Given the description of an element on the screen output the (x, y) to click on. 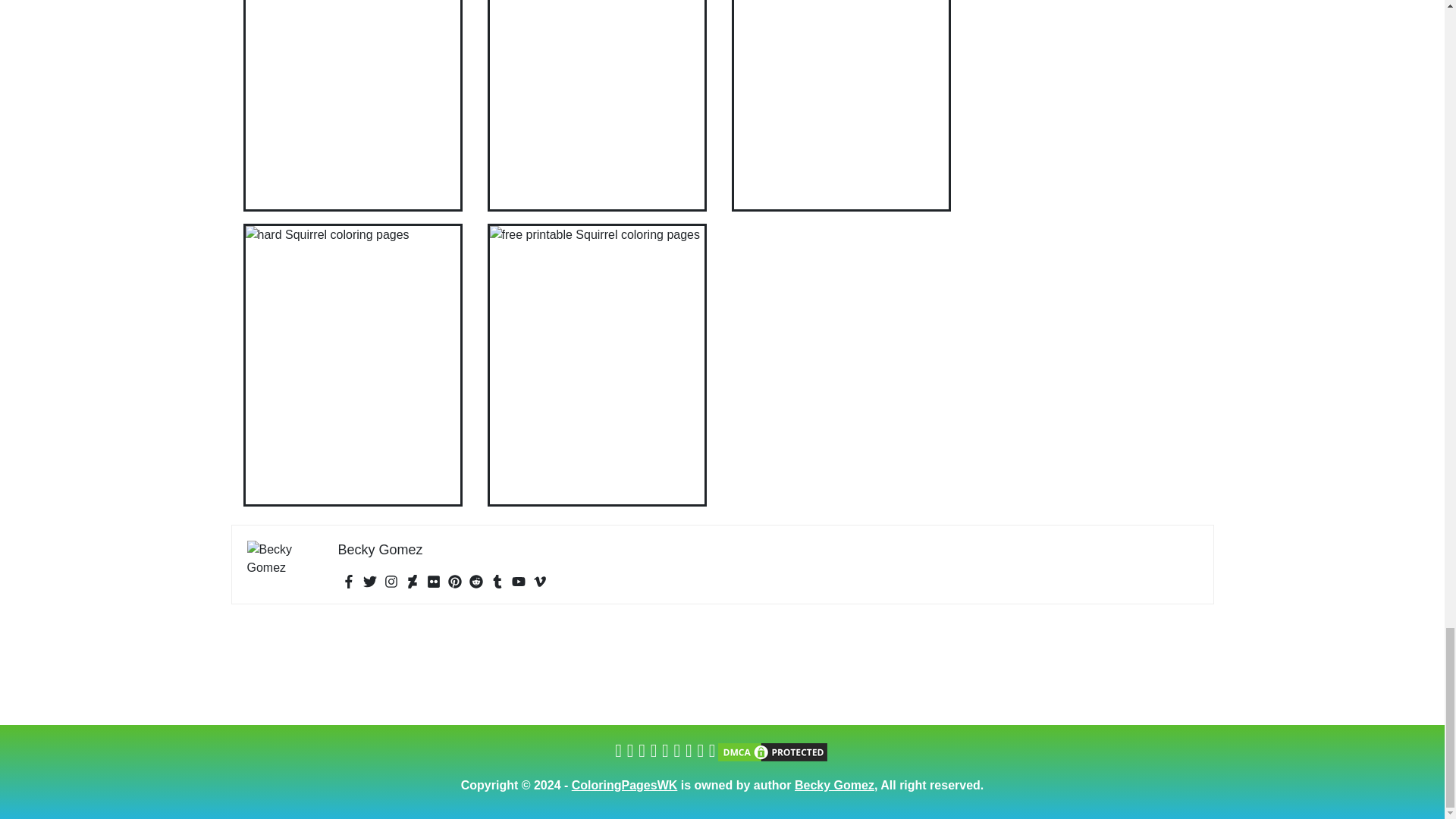
Squirrel Coloring Pages 14 (596, 105)
Becky Gomez (380, 549)
Squirrel Coloring Pages 7 (353, 105)
